Given the description of an element on the screen output the (x, y) to click on. 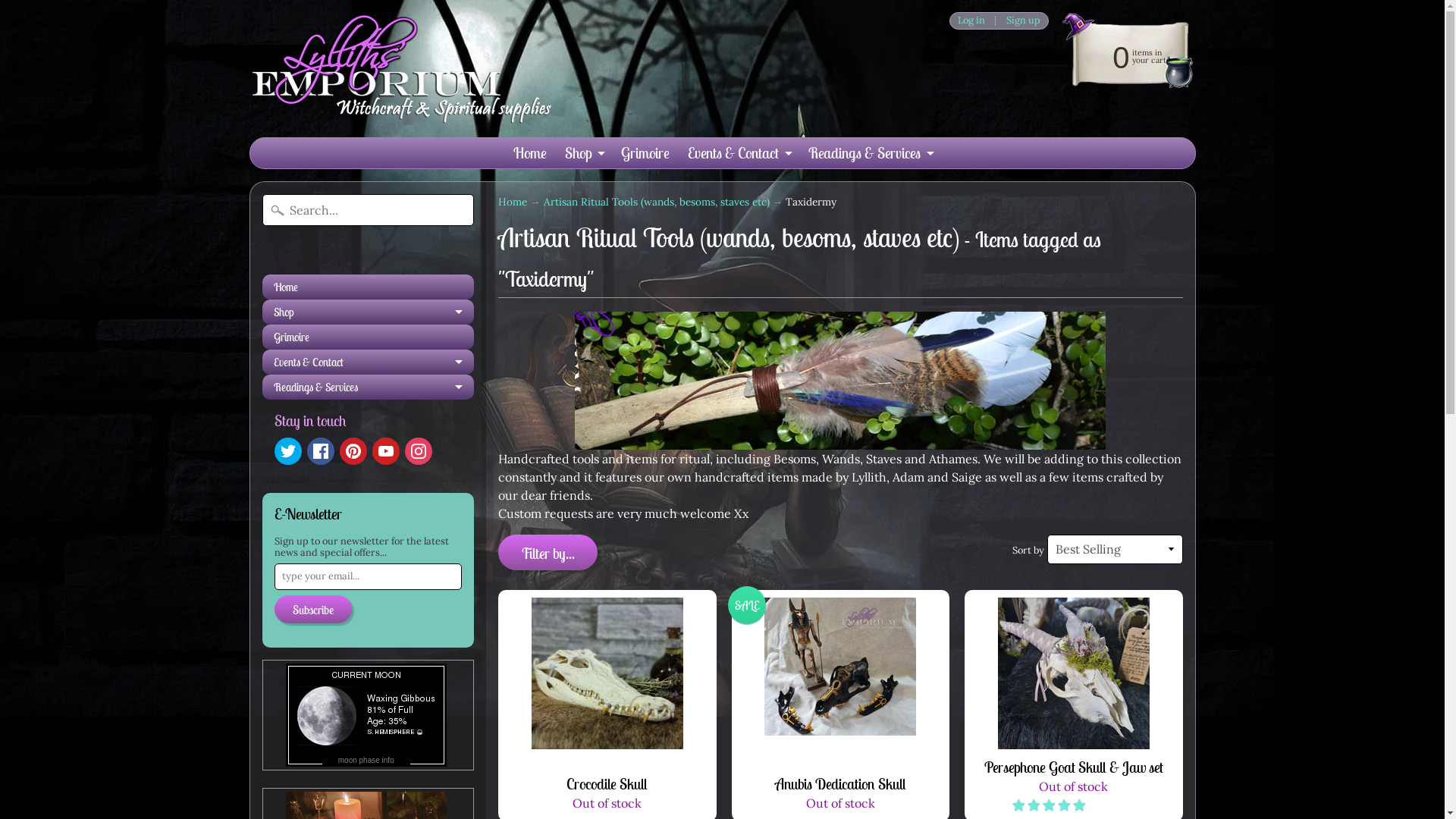
Shop Element type: text (582, 153)
Log in Element type: text (970, 20)
Home Element type: text (512, 201)
Youtube Element type: hover (384, 450)
Facebook Element type: hover (319, 450)
Home Element type: text (529, 153)
Grimoire Element type: text (644, 153)
Sign up Element type: text (1022, 20)
Filter by... Element type: text (547, 552)
Subscribe Element type: text (312, 609)
Readings & Services Element type: text (368, 386)
moon phase info Element type: text (366, 757)
Home Element type: text (368, 286)
Artisan Ritual Tools (wands, besoms, staves etc) Element type: text (656, 201)
Twitter Element type: hover (287, 450)
Events & Contact Element type: text (738, 153)
Lylliths' Emporium Element type: hover (400, 68)
Readings & Services Element type: text (869, 153)
Events & Contact Element type: text (368, 361)
0
items in your cart Element type: text (1122, 56)
Grimoire Element type: text (368, 336)
Instagram Element type: hover (418, 450)
Pinterest Element type: hover (353, 450)
Shop Element type: text (368, 311)
